Given the description of an element on the screen output the (x, y) to click on. 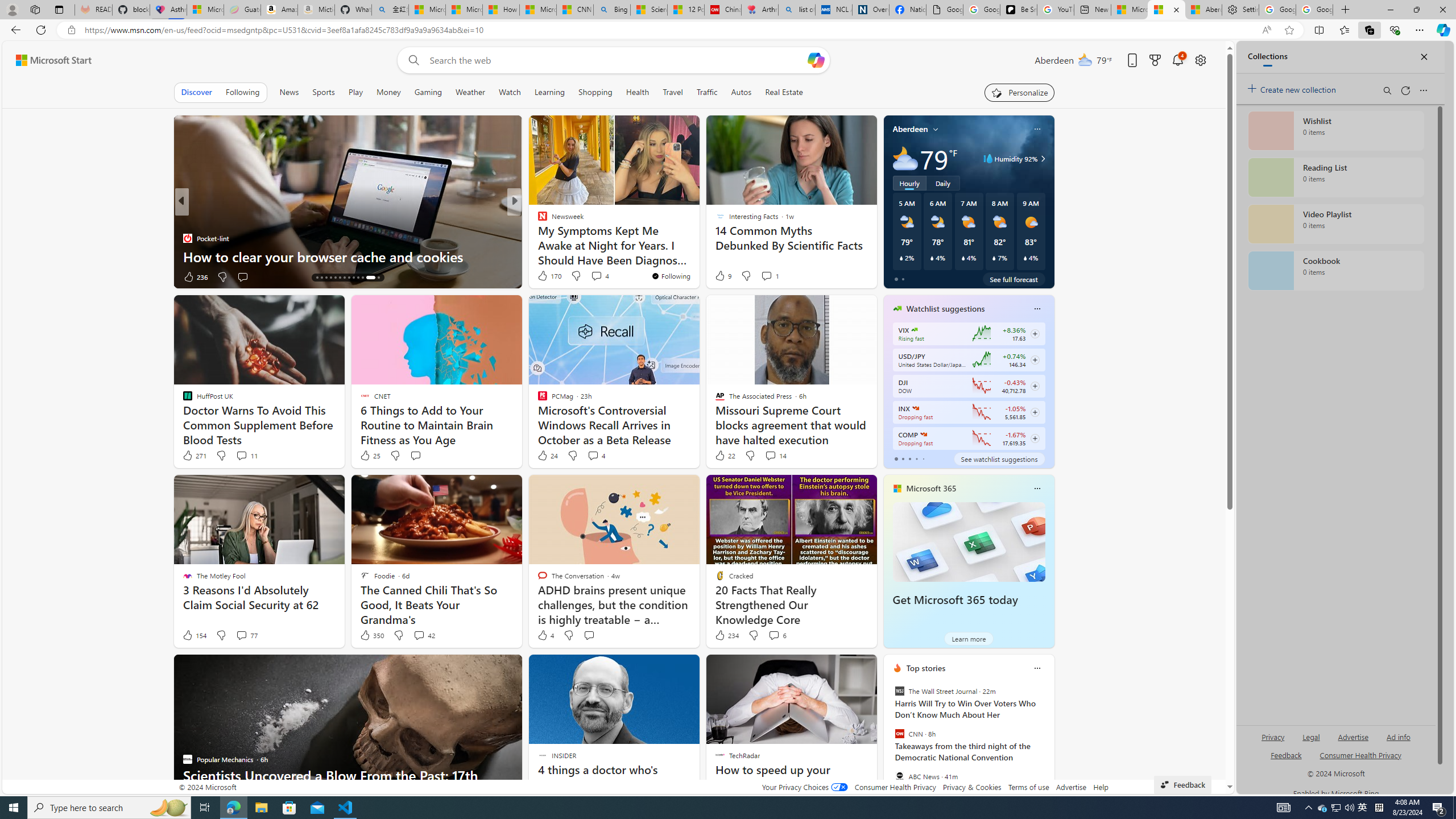
Sports (323, 92)
View comments 77 Comment (241, 635)
tab-4 (923, 458)
Sports (323, 92)
Following (242, 92)
Aberdeen (910, 128)
News (288, 92)
Gaming (428, 92)
View comments 34 Comment (247, 276)
25 Like (368, 455)
